Given the description of an element on the screen output the (x, y) to click on. 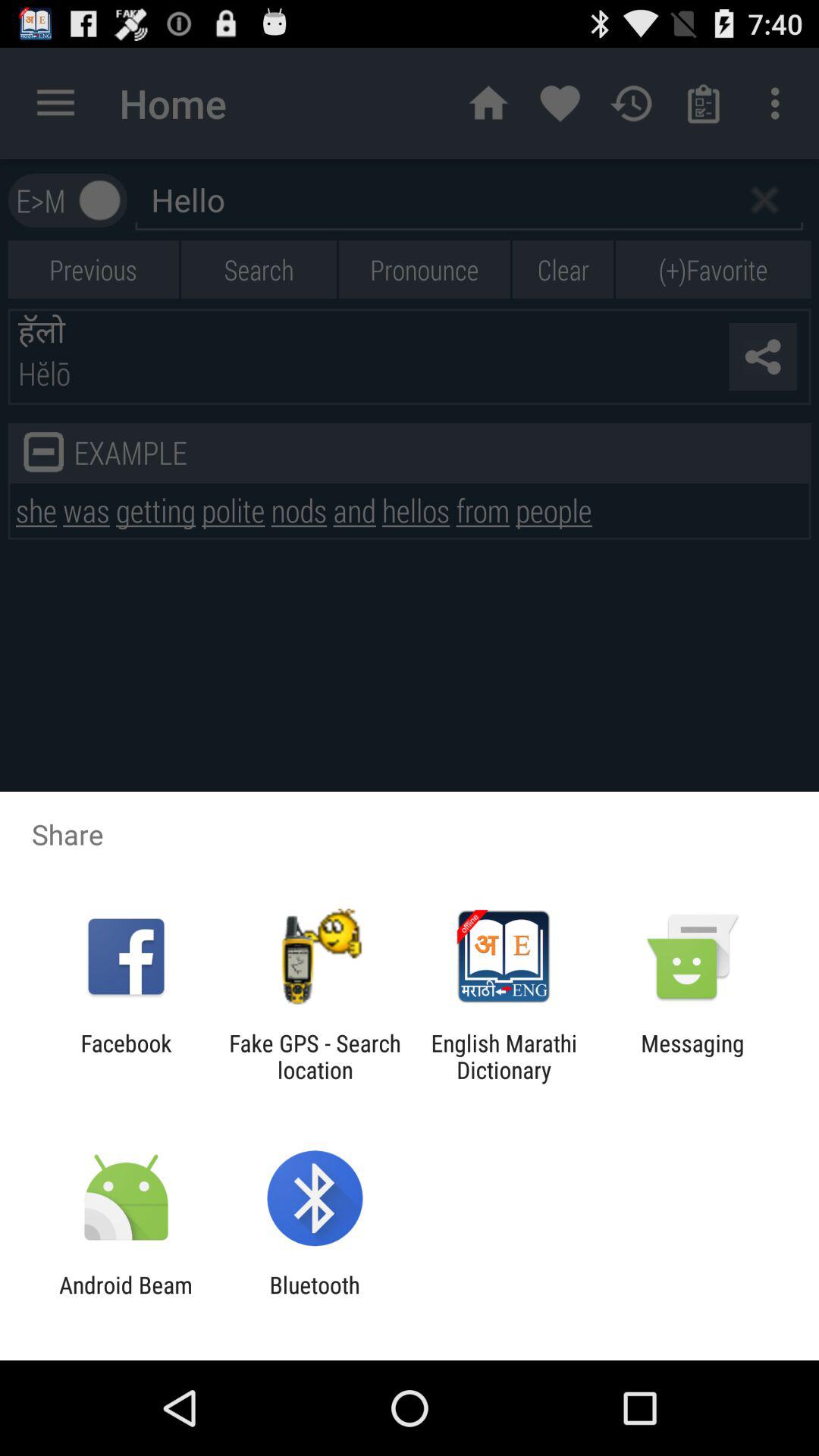
choose the icon next to bluetooth (125, 1298)
